Given the description of an element on the screen output the (x, y) to click on. 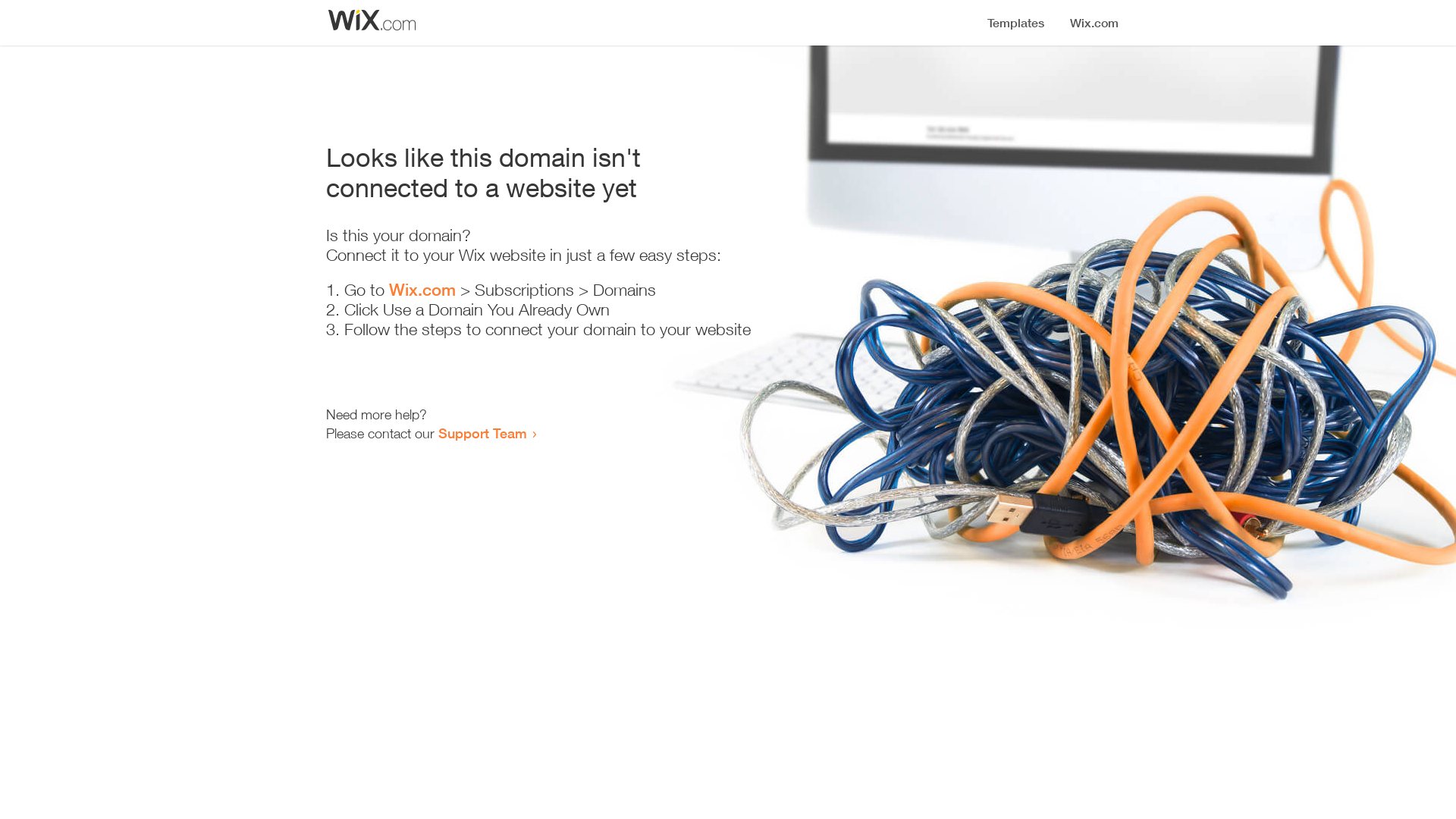
Support Team Element type: text (482, 432)
Wix.com Element type: text (422, 289)
